Given the description of an element on the screen output the (x, y) to click on. 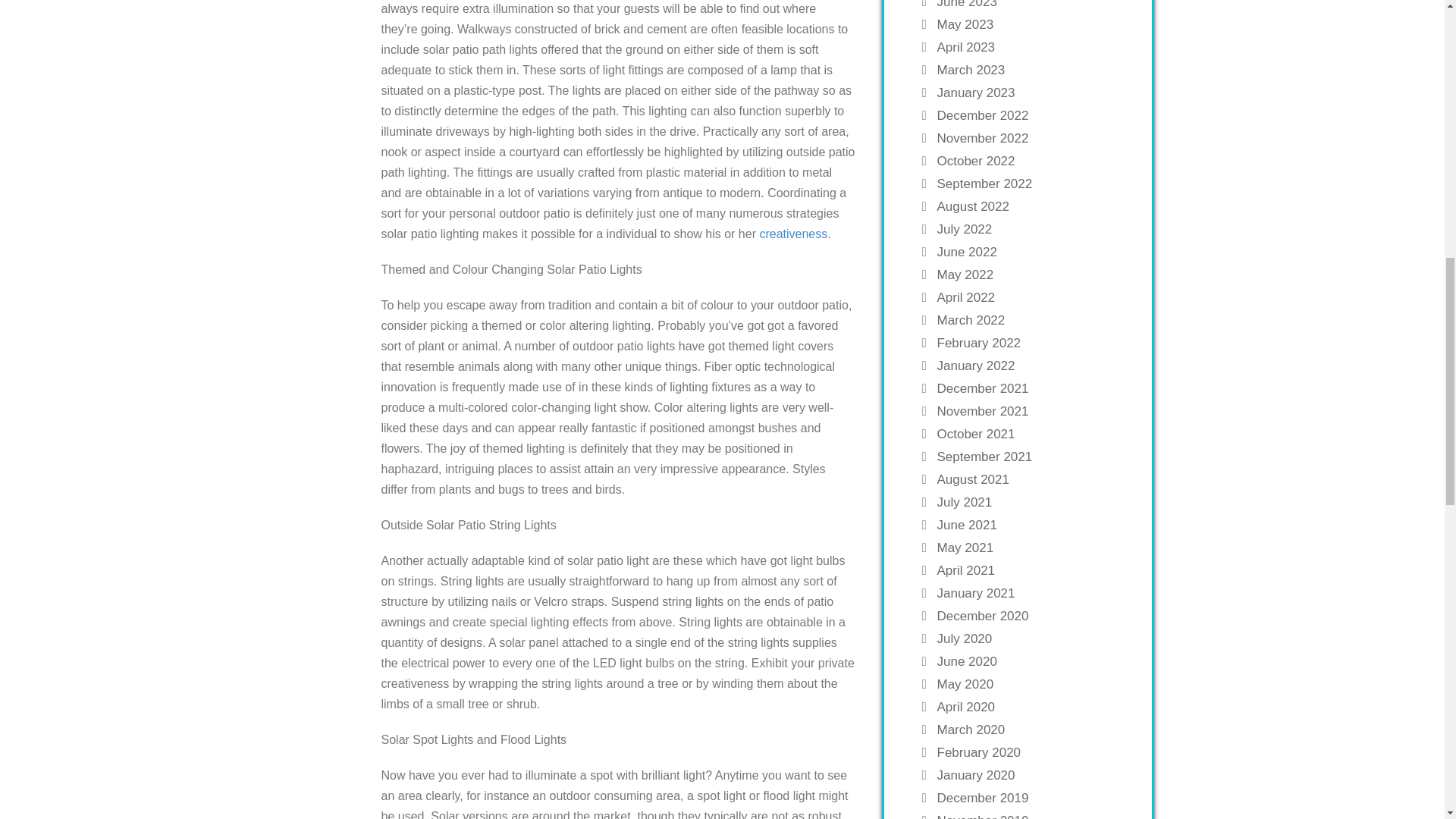
creativeness (792, 233)
